Given the description of an element on the screen output the (x, y) to click on. 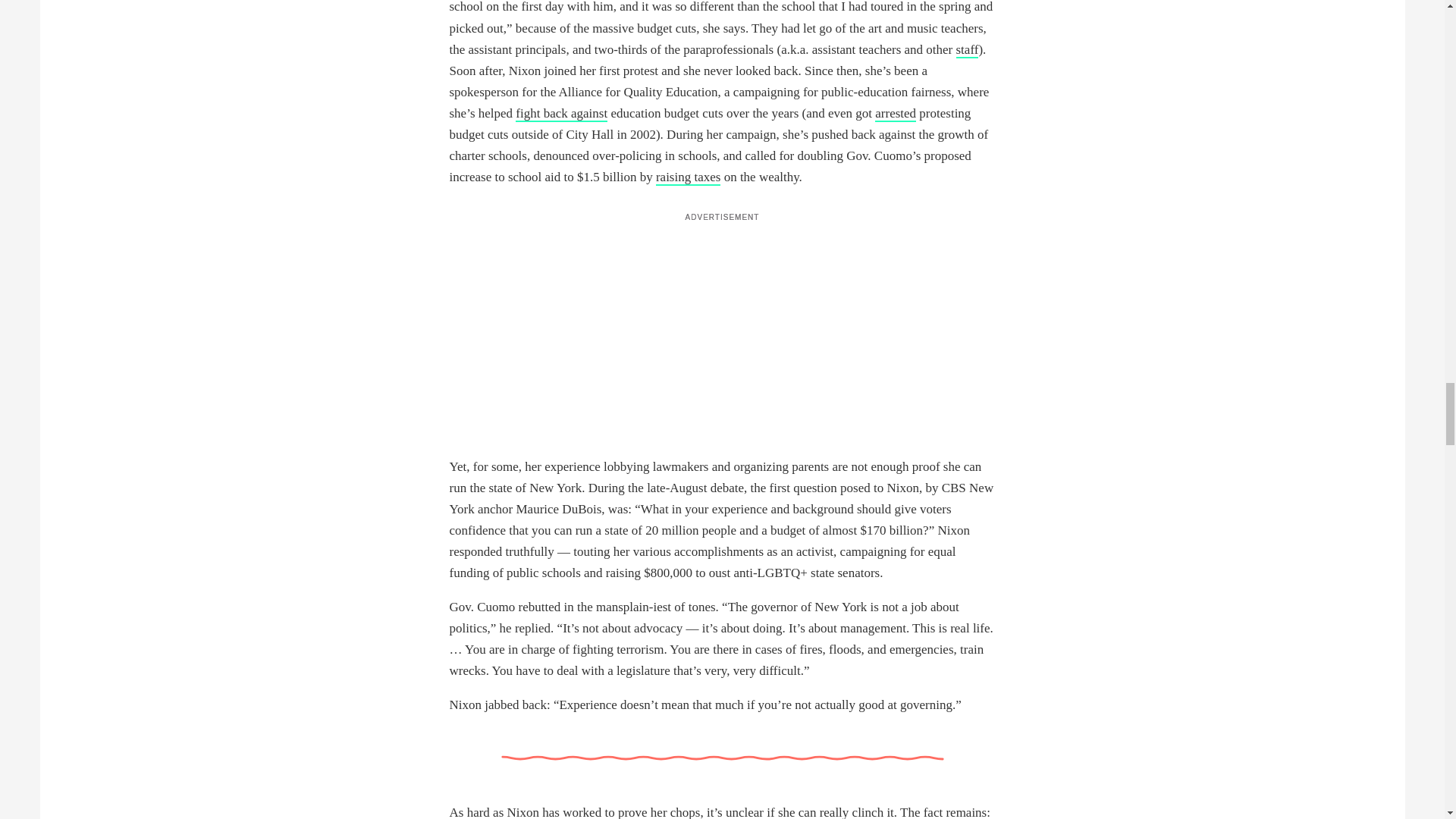
staff (966, 50)
fight back against (561, 114)
raising taxes (688, 177)
arrested (895, 114)
